Given the description of an element on the screen output the (x, y) to click on. 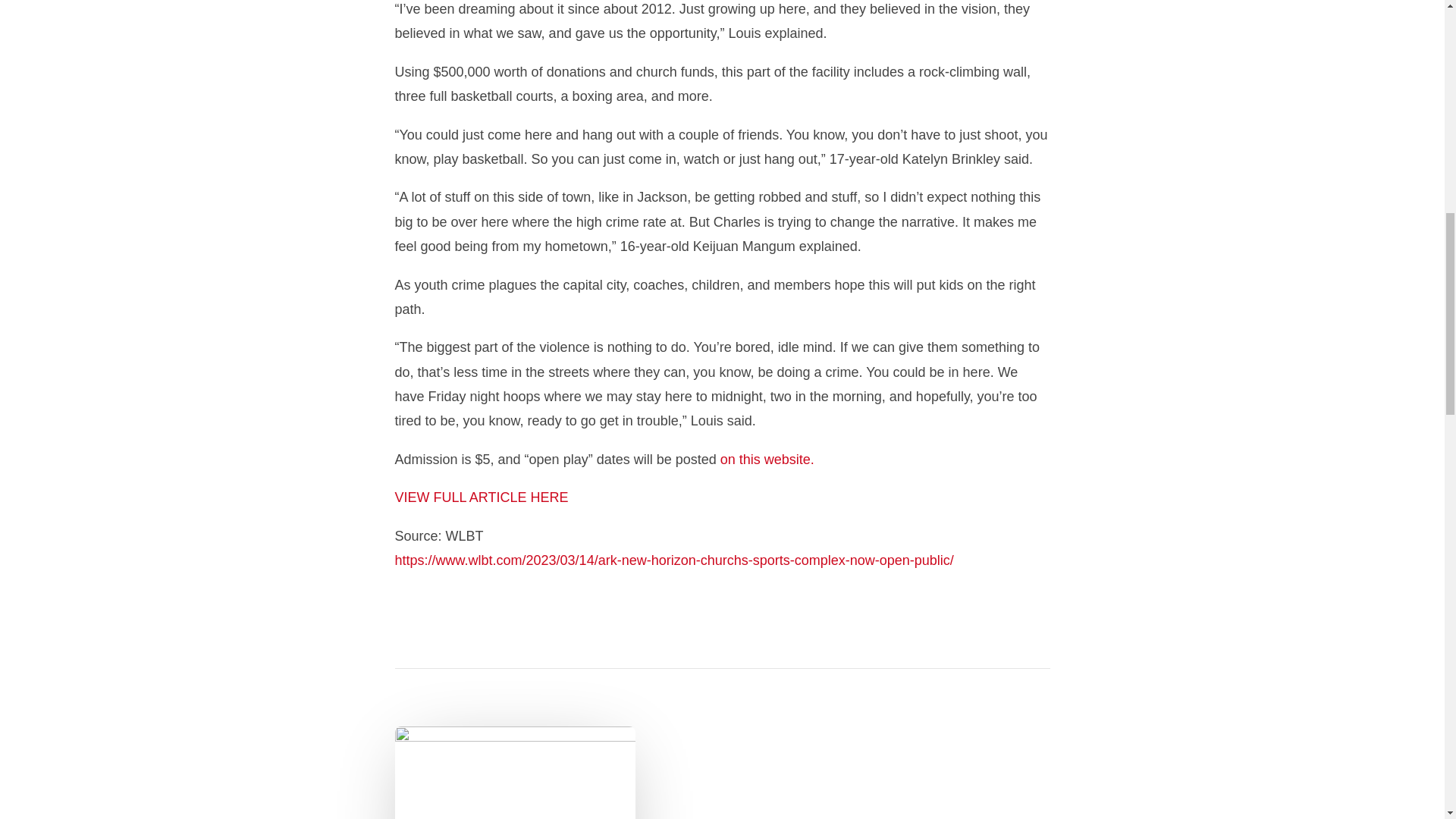
VIEW FULL ARTICLE HERE (480, 497)
on this website. (766, 459)
